Given the description of an element on the screen output the (x, y) to click on. 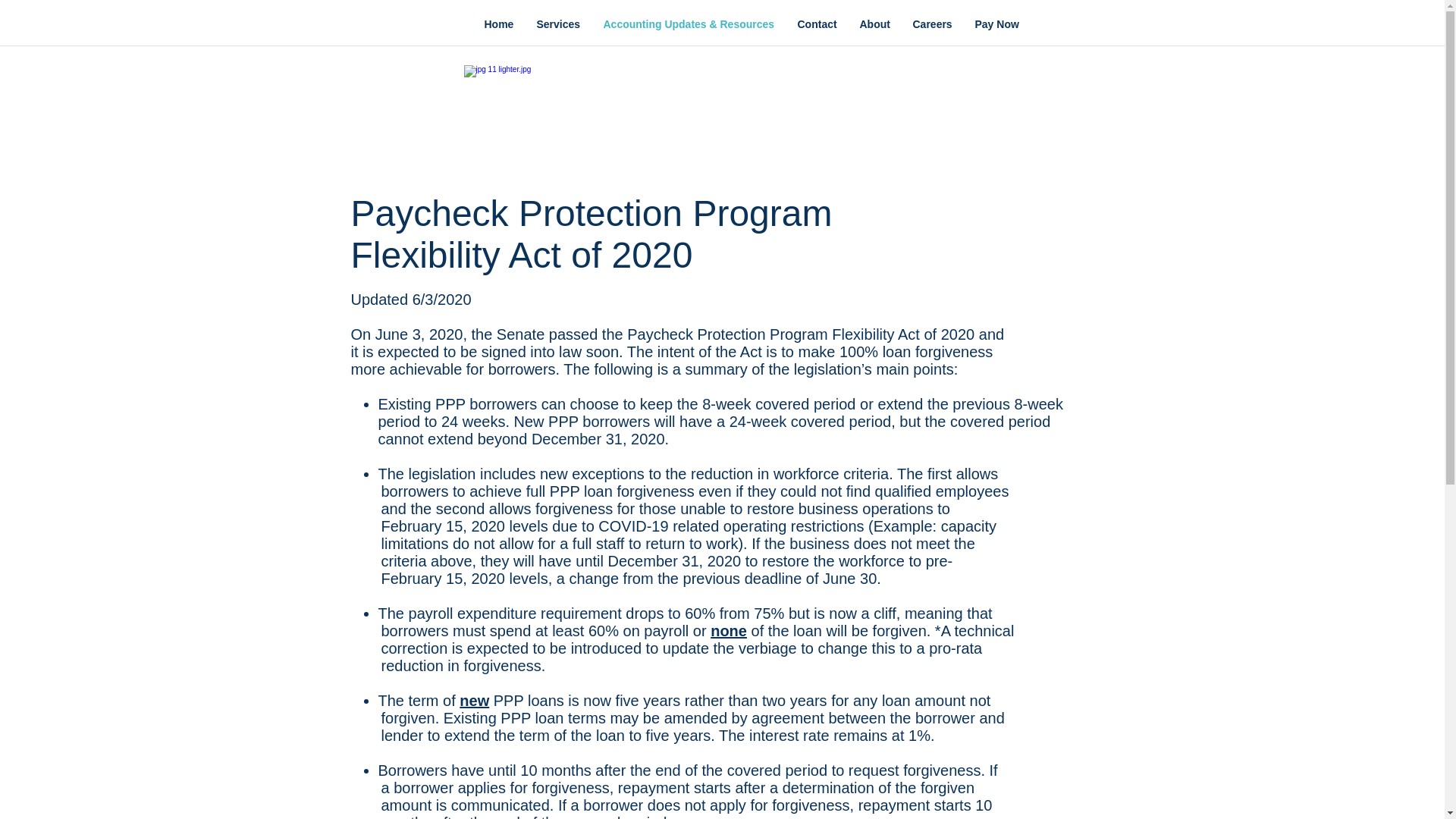
About (874, 24)
Contact (816, 24)
Home (499, 24)
Pay Now (995, 24)
Careers (931, 24)
Services (557, 24)
